Given the description of an element on the screen output the (x, y) to click on. 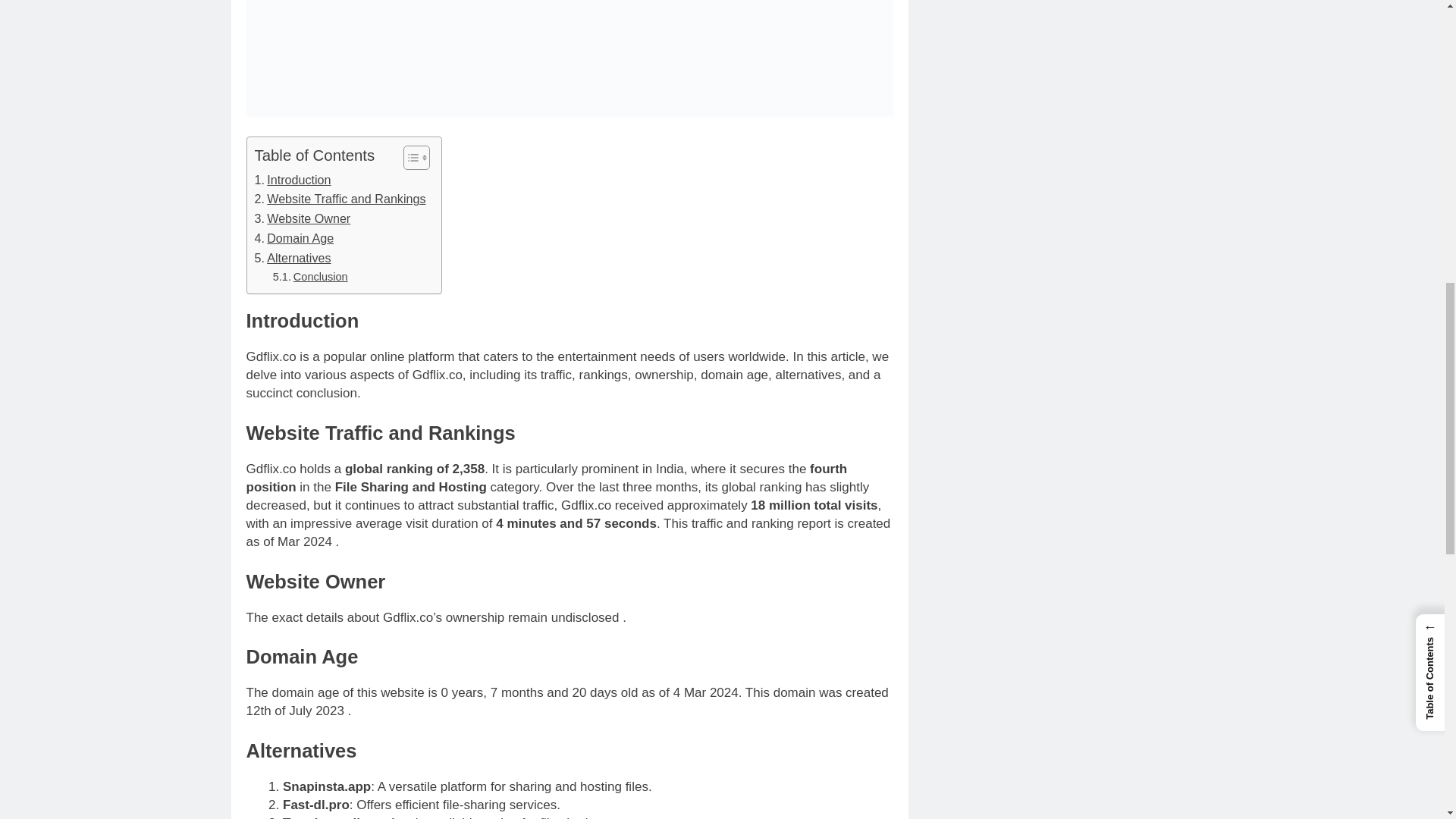
Conclusion (310, 276)
Introduction (292, 180)
Website Owner (302, 219)
Alternatives (292, 258)
Domain Age (294, 238)
Website Traffic and Rankings (340, 199)
